Given the description of an element on the screen output the (x, y) to click on. 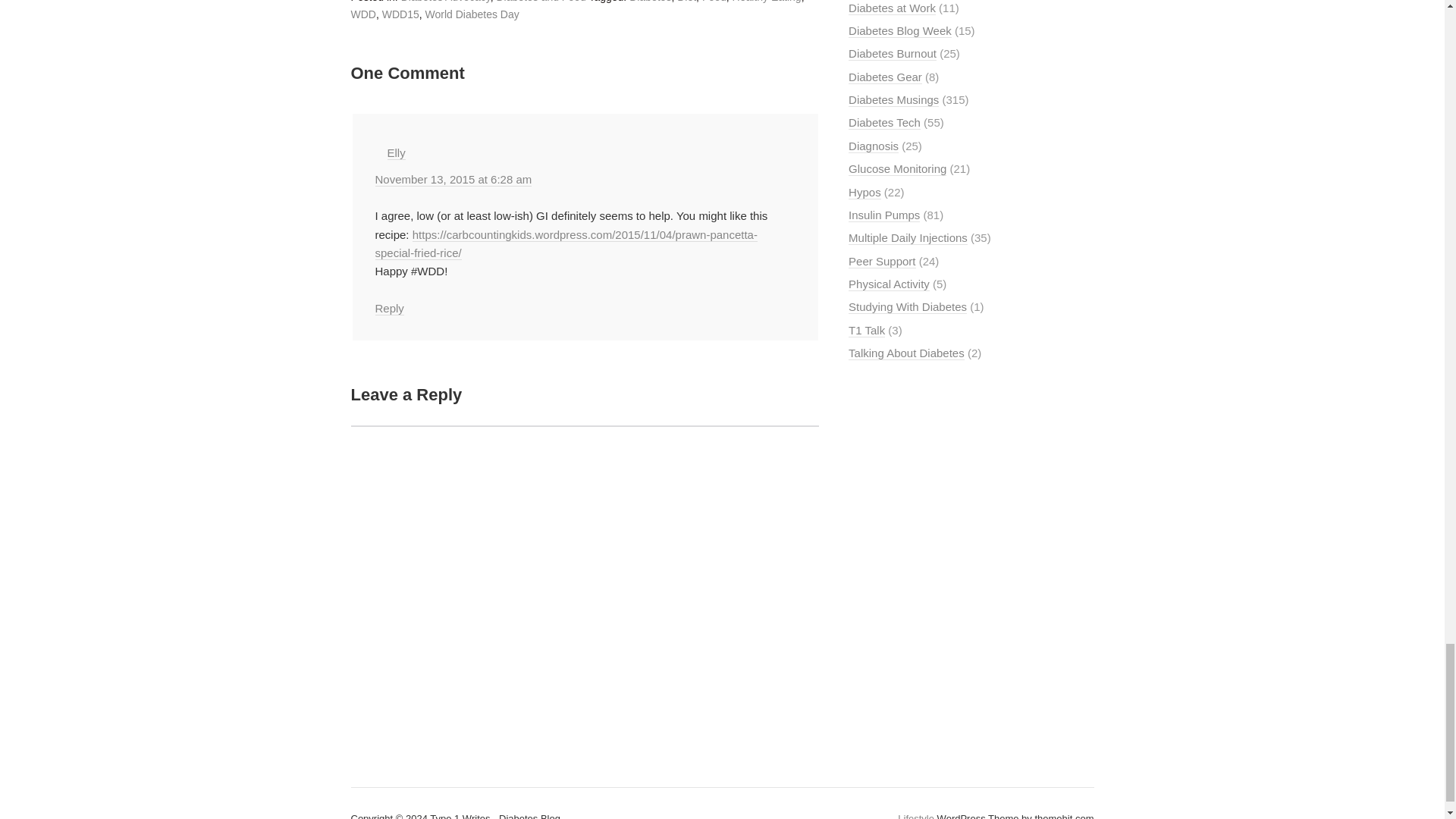
WDD (362, 14)
Elly (395, 152)
Food (713, 1)
Diabetes (649, 1)
WDD15 (400, 14)
World Diabetes Day (472, 14)
November 13, 2015 at 6:28 am (452, 179)
Friday, November 13, 2015, 6:28 am (452, 179)
Healthy Eating (767, 1)
Diabetes and Food (540, 1)
Diet (686, 1)
Reply (388, 308)
Diabetes Advocacy (445, 1)
